Given the description of an element on the screen output the (x, y) to click on. 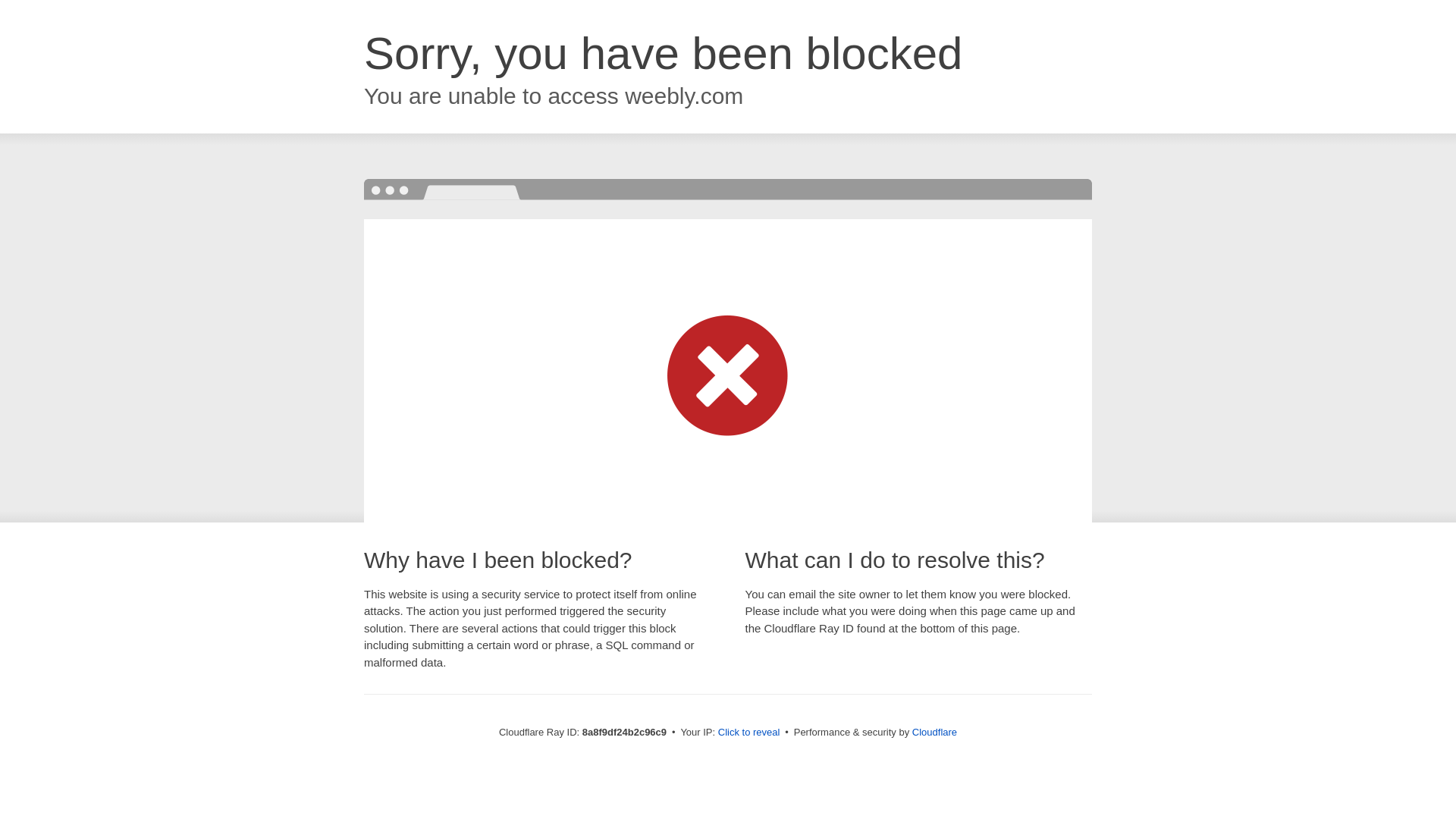
Cloudflare (934, 731)
Click to reveal (748, 732)
